Given the description of an element on the screen output the (x, y) to click on. 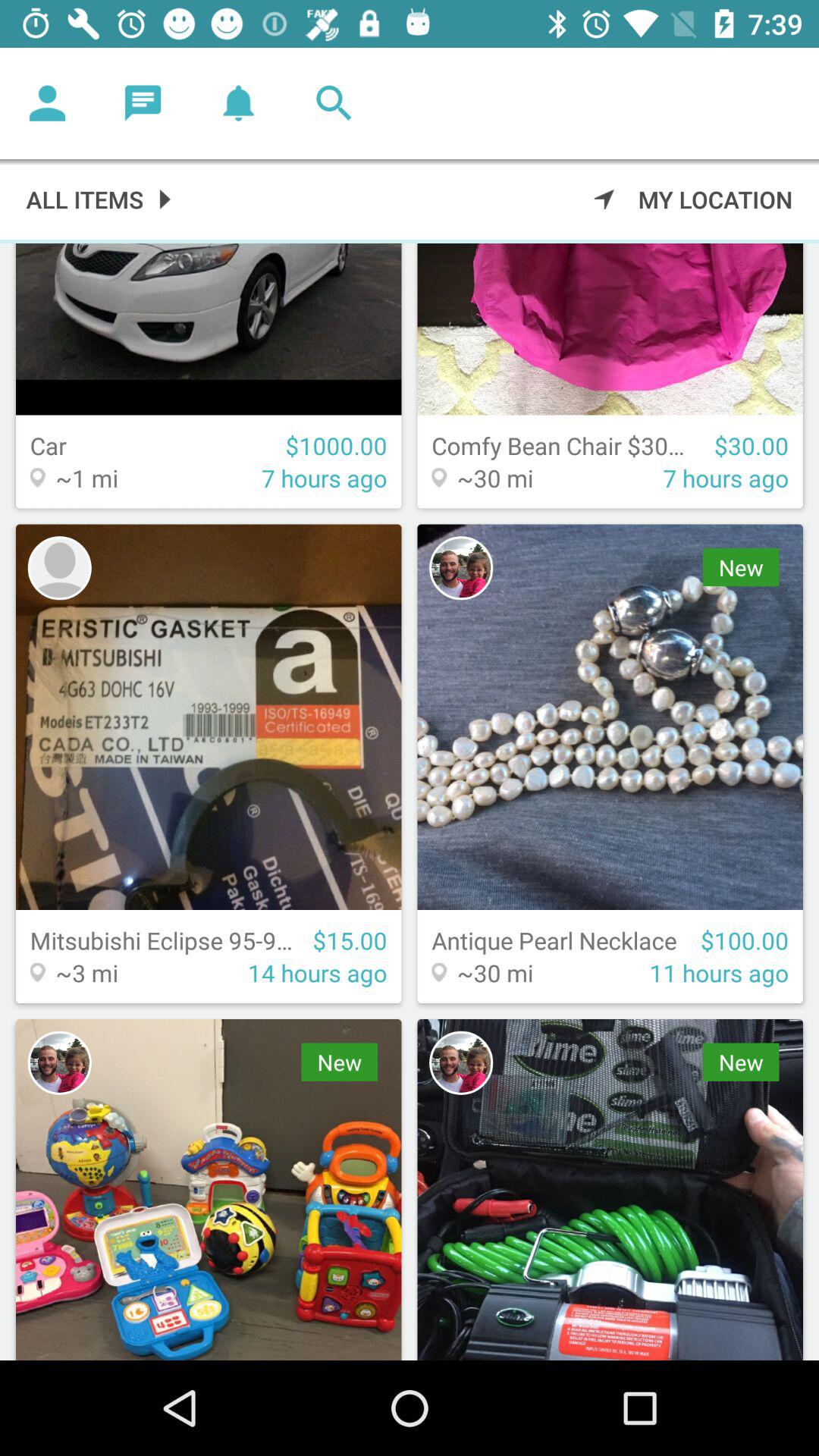
view contact (59, 568)
